Given the description of an element on the screen output the (x, y) to click on. 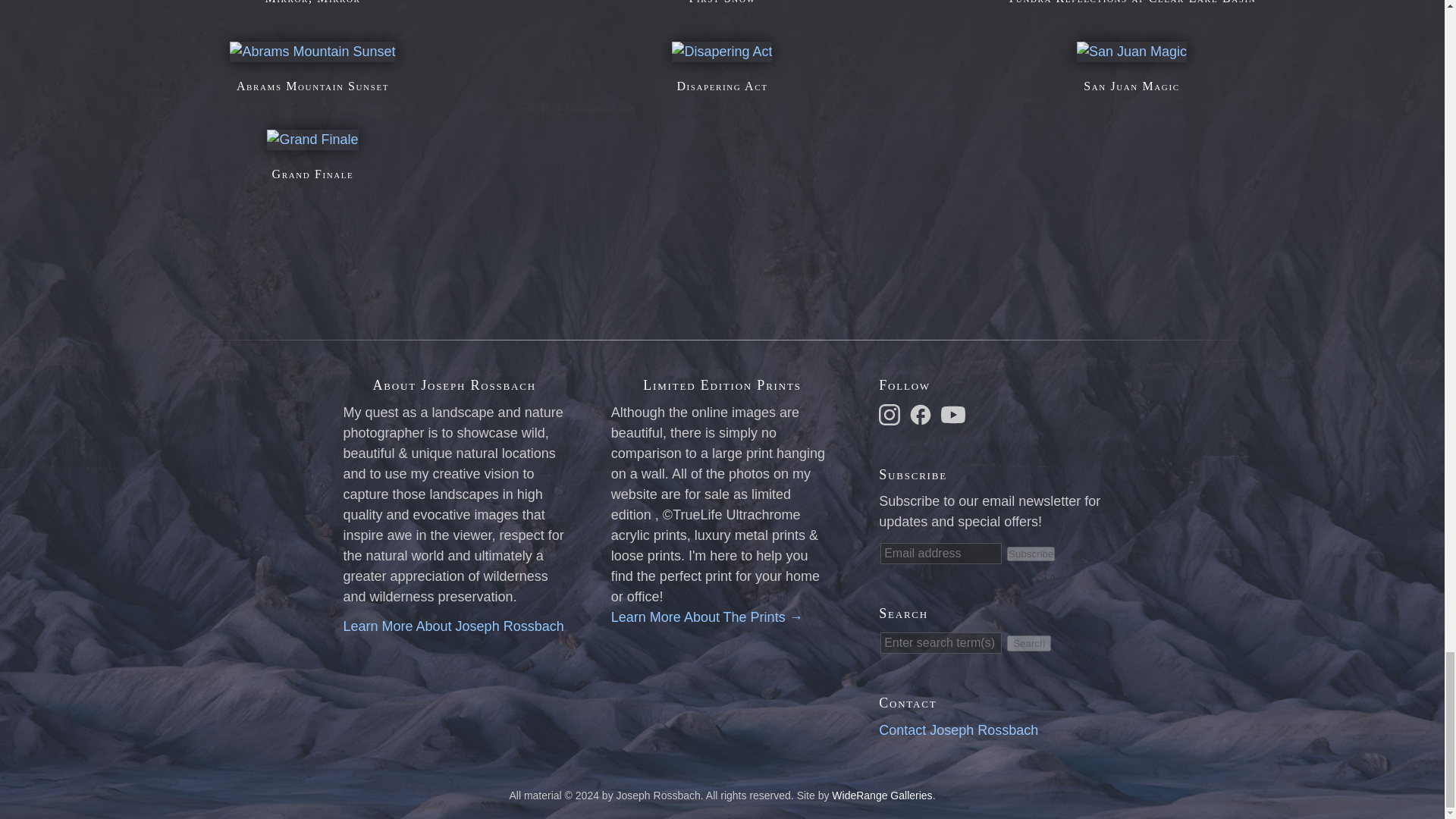
Subscribe (1030, 554)
Instagram icon (889, 414)
YouTube icon (952, 414)
